Given the description of an element on the screen output the (x, y) to click on. 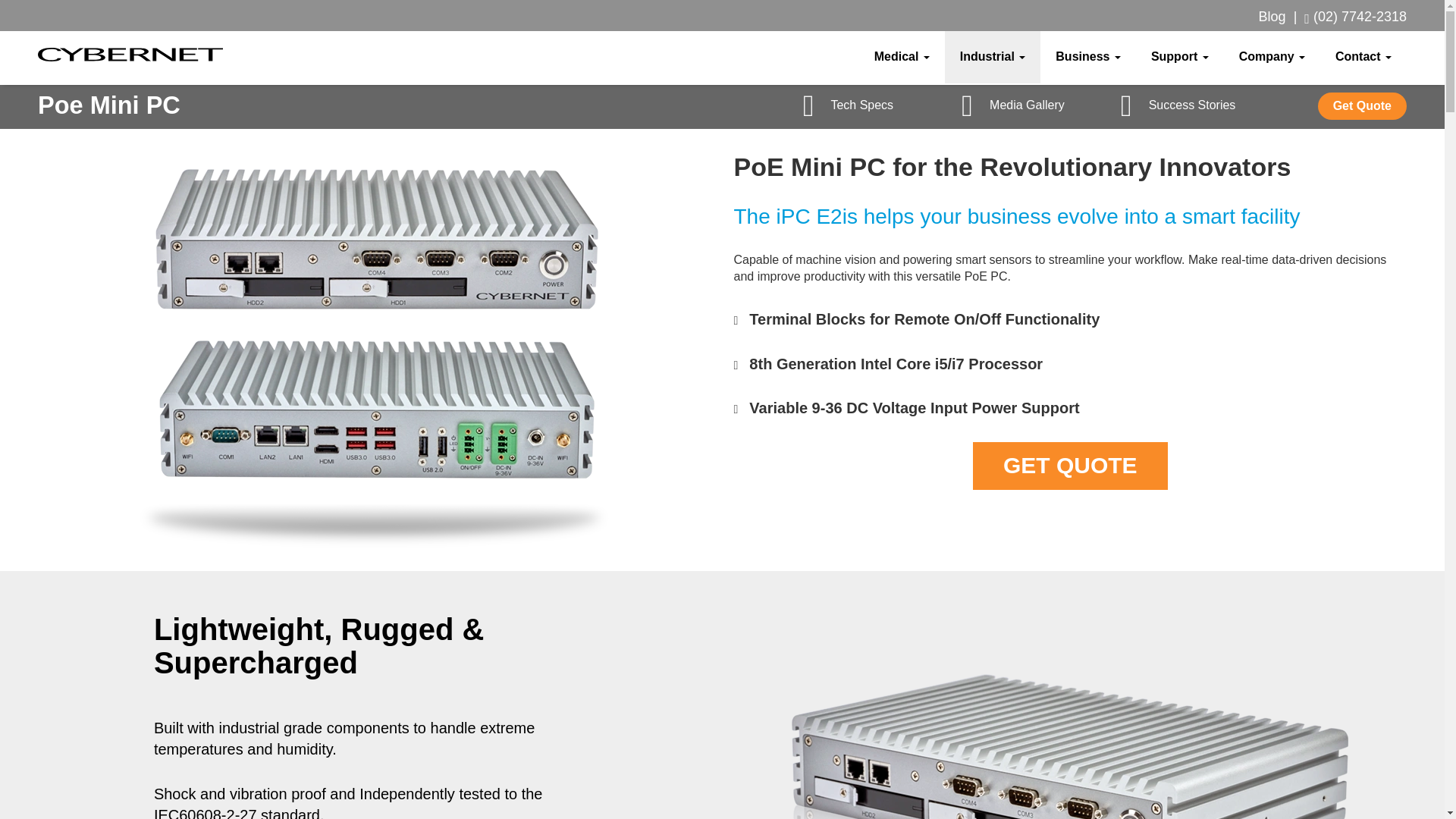
Blog (1272, 16)
Cybernet Manufacturing (129, 54)
Support (1179, 56)
